Given the description of an element on the screen output the (x, y) to click on. 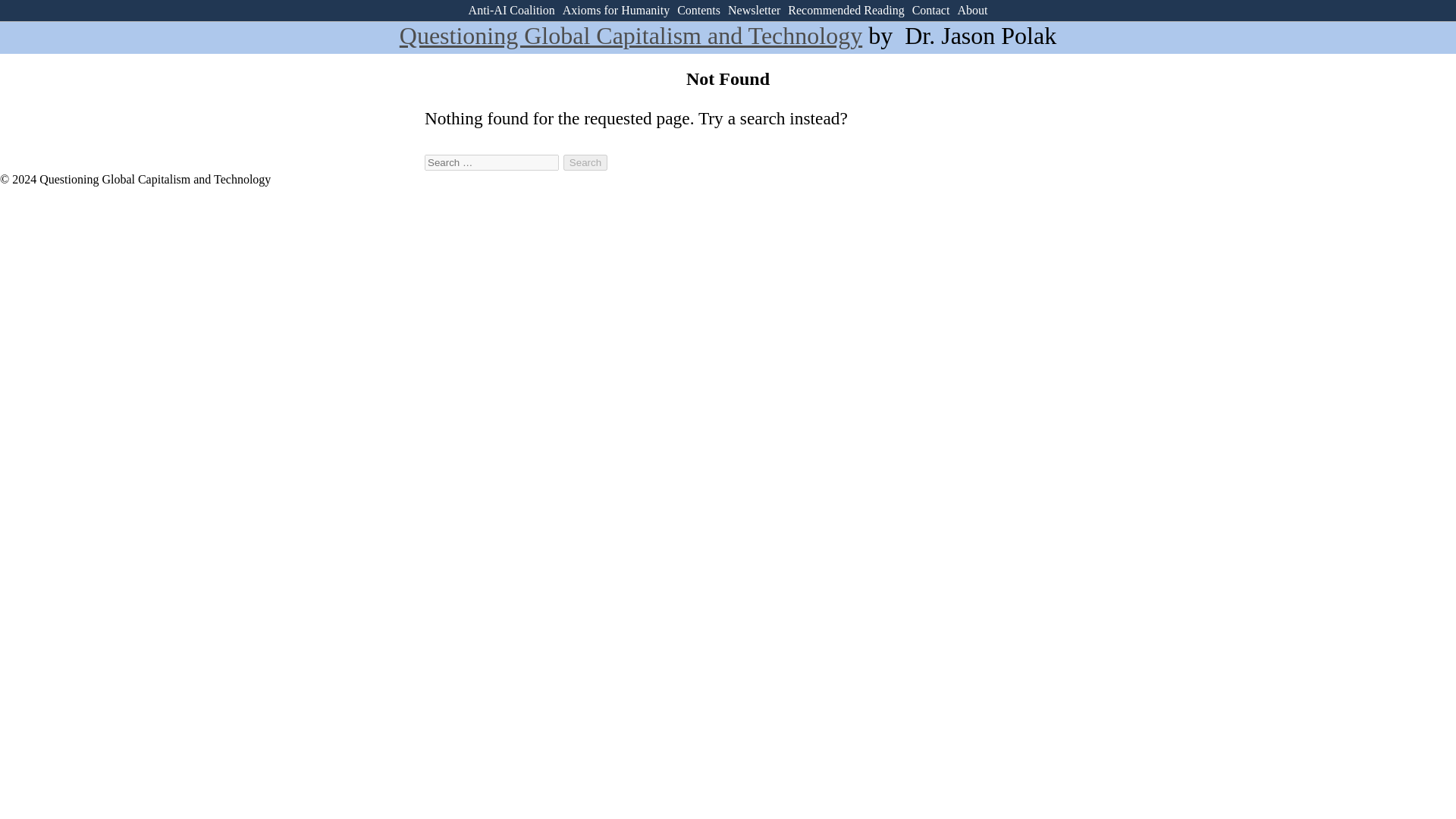
Newsletter (754, 10)
Search (585, 162)
Anti-AI Coalition (511, 10)
Questioning Global Capitalism and Technology (629, 35)
Search (585, 162)
Search (585, 162)
Axioms for Humanity (615, 10)
Contact (931, 10)
Questioning Global Capitalism and Technology (629, 35)
Contents (698, 10)
Recommended Reading (845, 10)
About (971, 10)
